Given the description of an element on the screen output the (x, y) to click on. 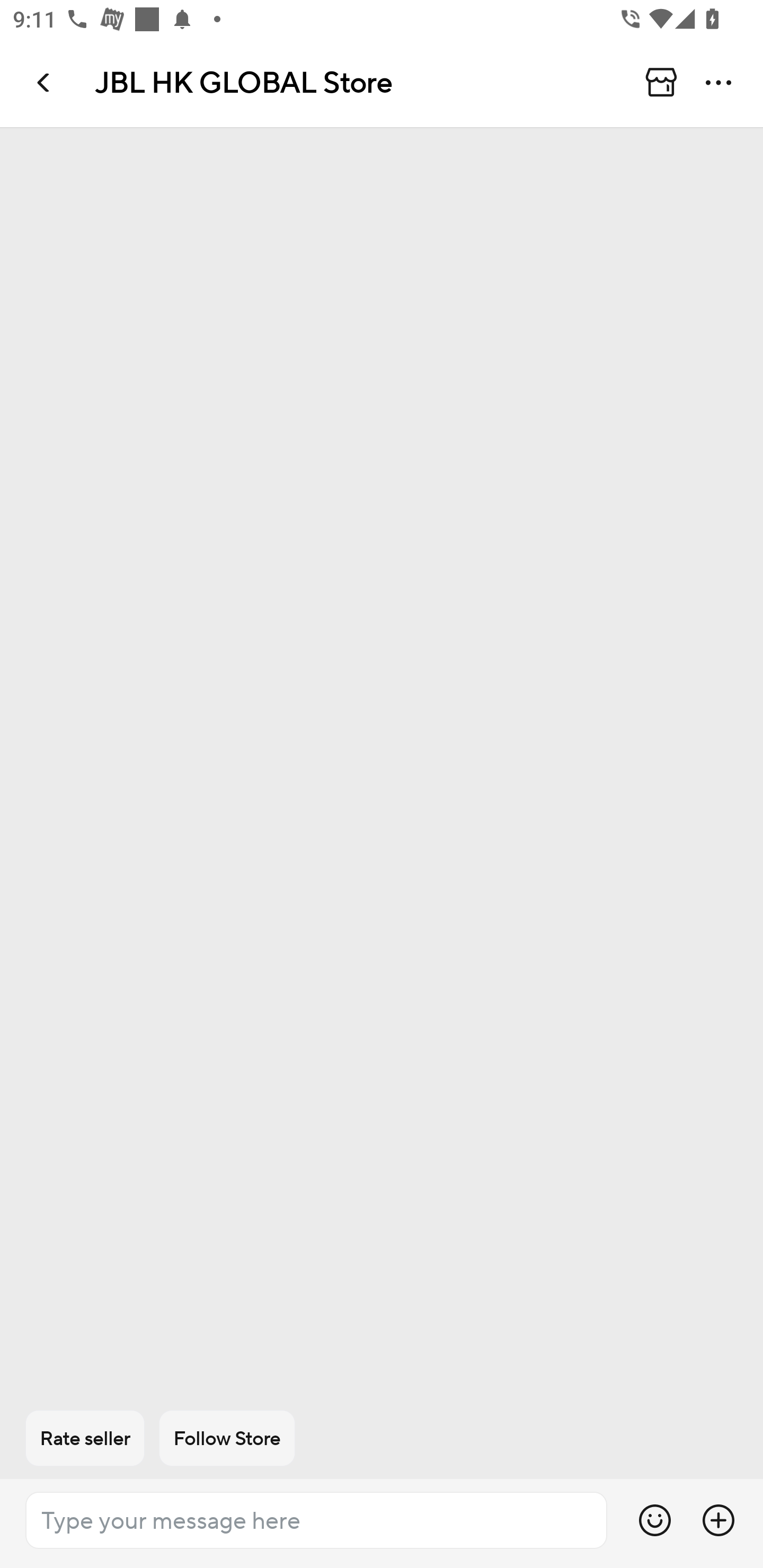
Navigate up (44, 82)
Rate seller (84, 1437)
Follow Store (226, 1437)
Type your message here (316, 1520)
